Given the description of an element on the screen output the (x, y) to click on. 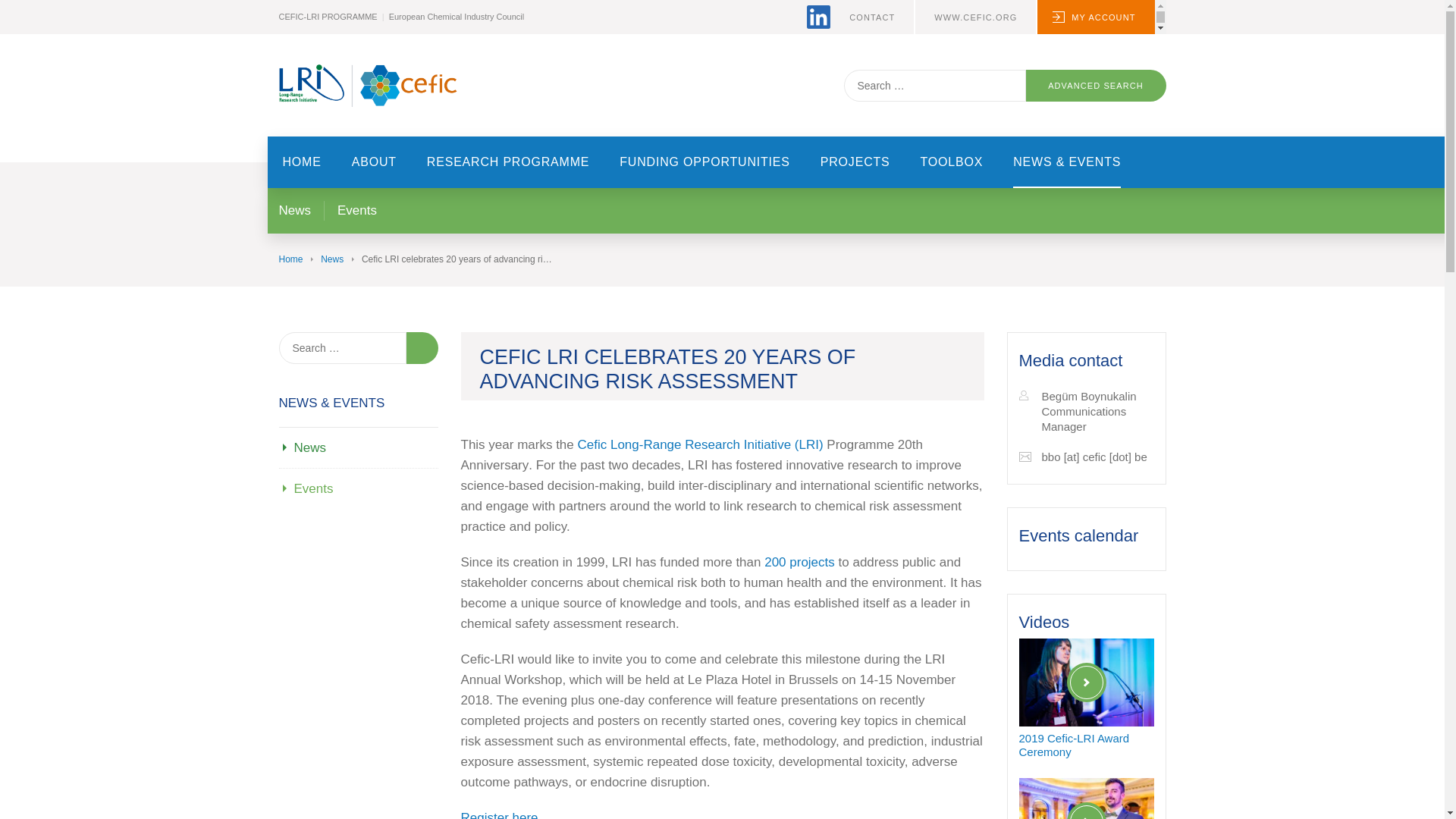
RESEARCH PROGRAMME (507, 162)
PROJECTS (855, 162)
ADVANCED SEARCH (1095, 85)
MY ACCOUNT (1095, 17)
TOOLBOX (952, 162)
News (295, 210)
News (310, 446)
CONTACT (871, 17)
FUNDING OPPORTUNITIES (705, 162)
WWW.CEFIC.ORG (975, 17)
